Given the description of an element on the screen output the (x, y) to click on. 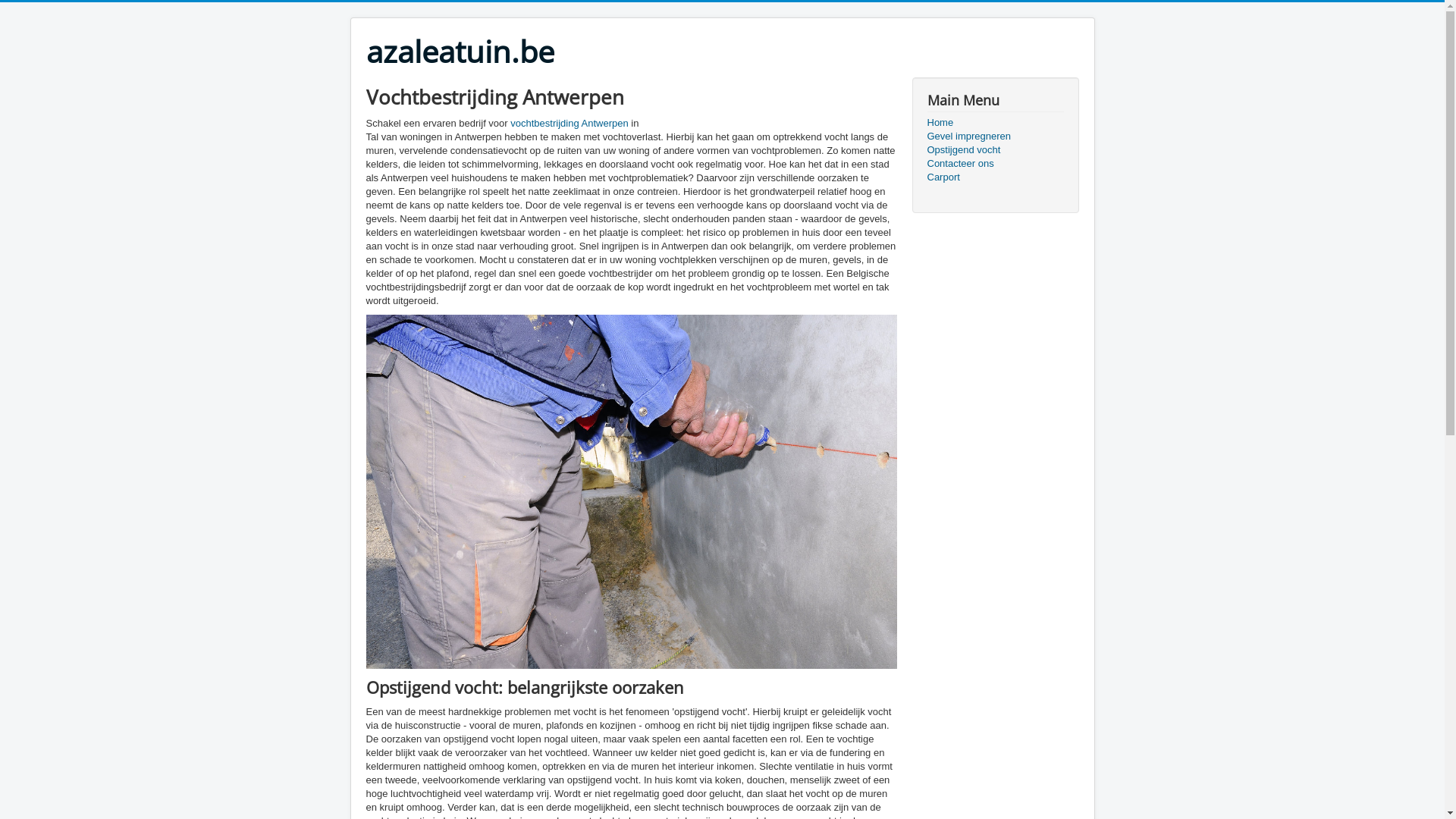
azaleatuin.be Element type: text (459, 51)
Opstijgend vocht Element type: text (994, 149)
Gevel impregneren Element type: text (994, 136)
Carport Element type: text (994, 177)
Home Element type: text (994, 122)
Contacteer ons Element type: text (994, 163)
vochtbestrijding Antwerpen Element type: text (568, 122)
